Given the description of an element on the screen output the (x, y) to click on. 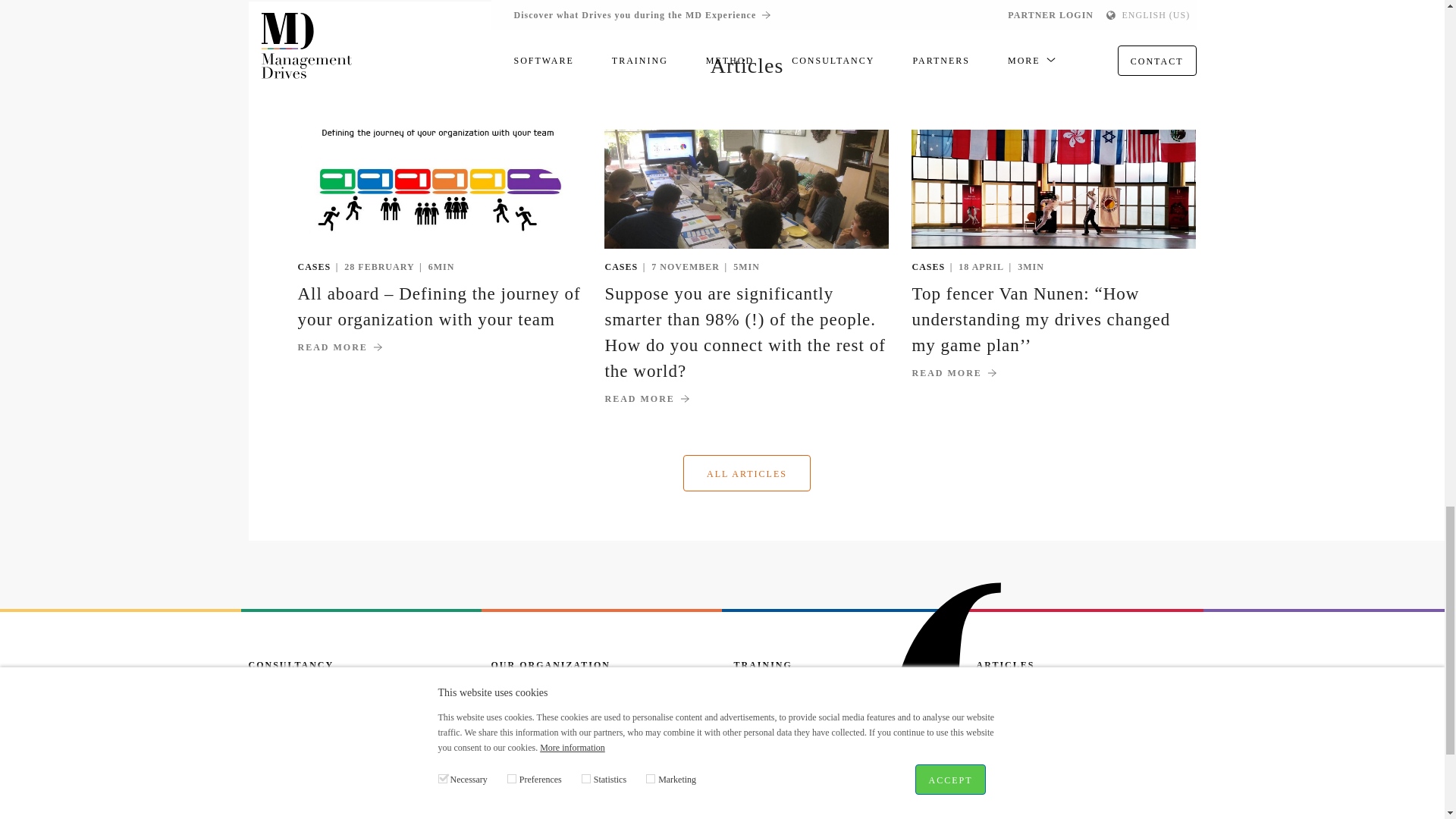
Organizational Transformation (322, 778)
Mission, vision, strategies (311, 735)
ALL ARTICLES (746, 473)
Customers (517, 757)
Method (510, 714)
Start session (278, 714)
Effective behavior (292, 757)
Partners (511, 735)
About us (513, 693)
Personal Leadership development (330, 693)
6 tips to create trust in your team (1072, 789)
ALL ARTICLES (1086, 816)
